Given the description of an element on the screen output the (x, y) to click on. 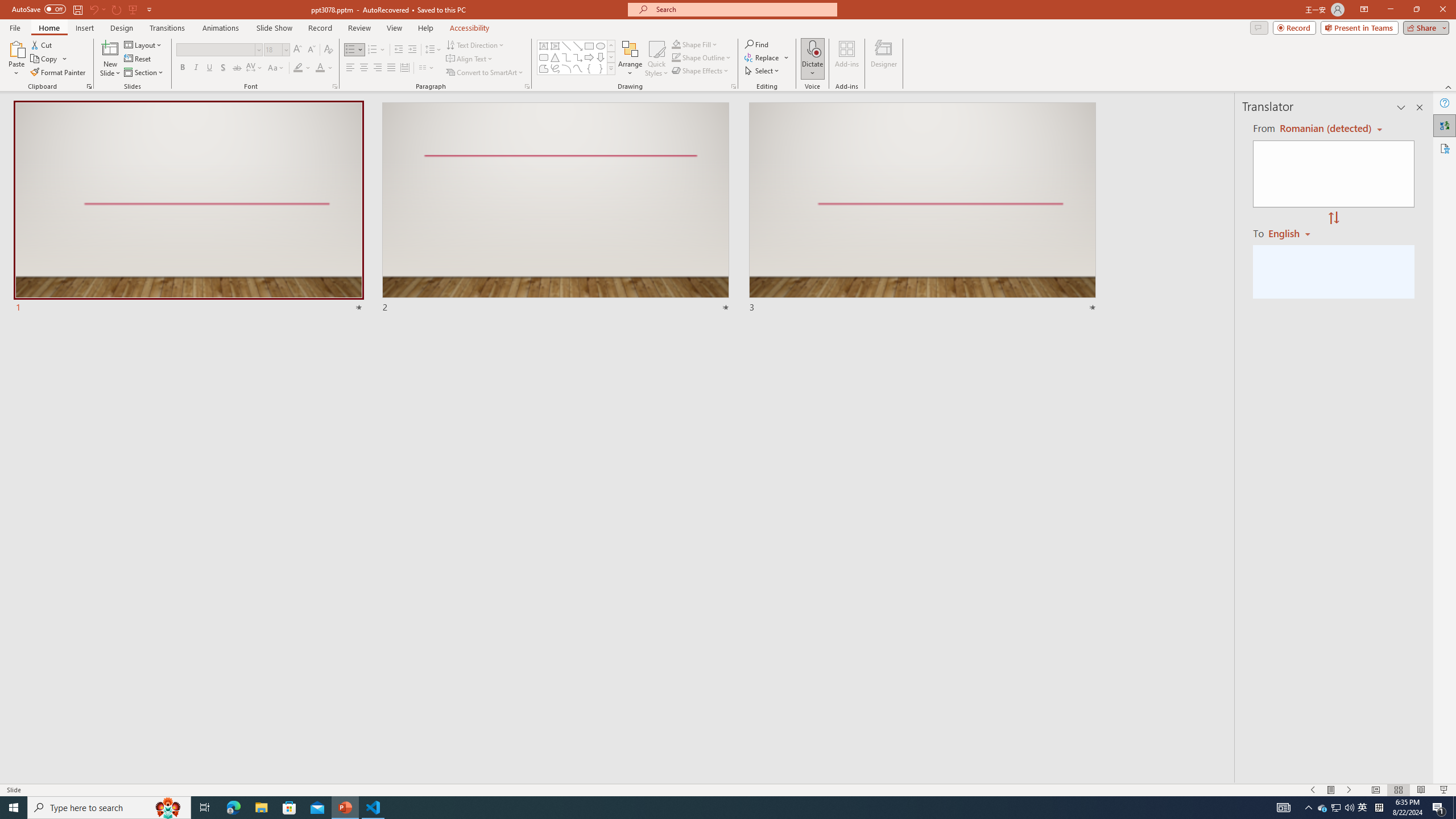
Slide Show Next On (1349, 790)
